Given the description of an element on the screen output the (x, y) to click on. 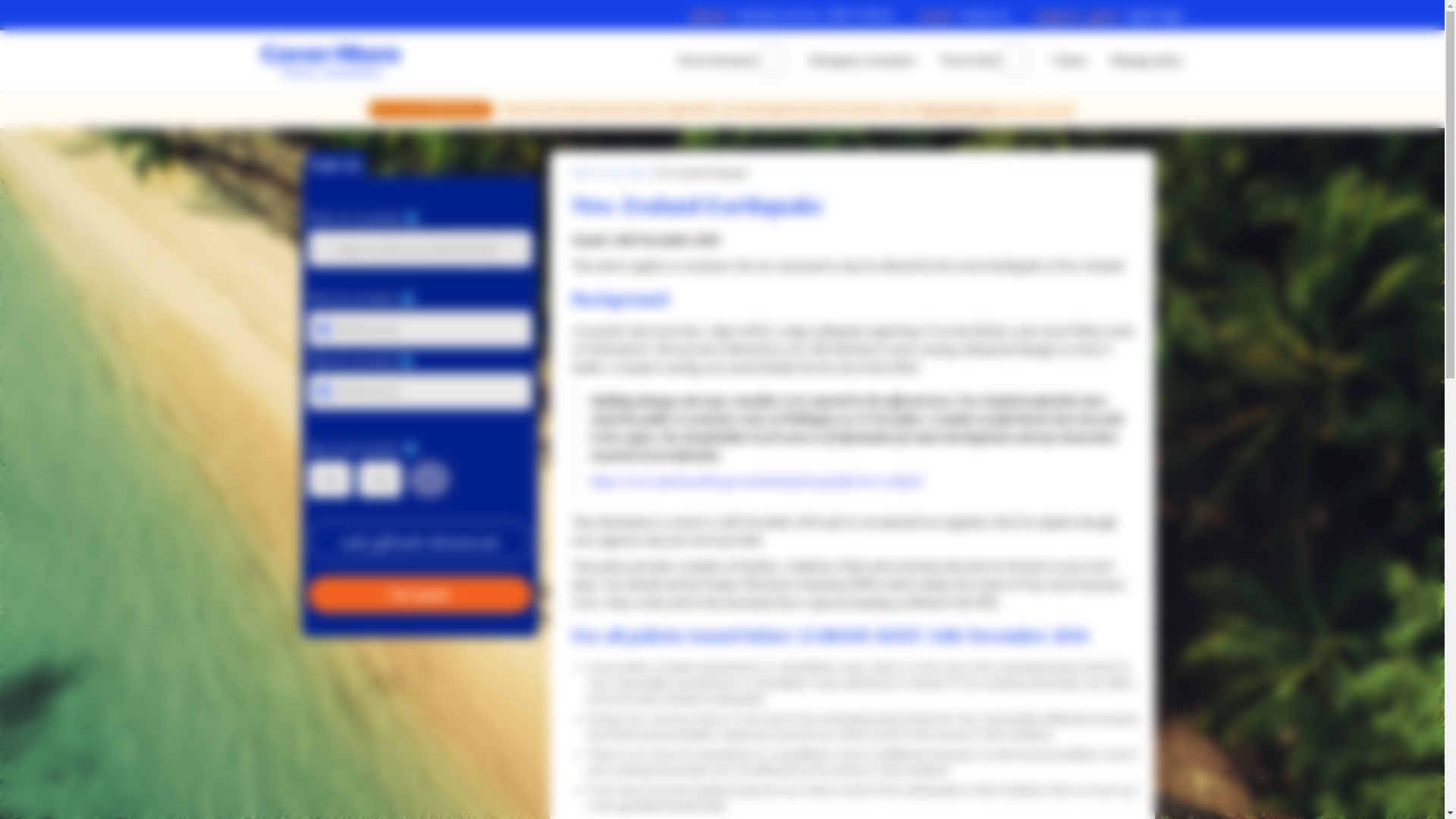
Emergency assistance (862, 60)
Read the big print (957, 109)
add (791, 14)
Travel alerts (429, 479)
Inbound (970, 60)
Manage policy (494, 163)
Single trip (1146, 60)
Home (335, 163)
Travel insurance (583, 172)
Annual multi-trip (717, 60)
Claims (418, 163)
Get quote (1069, 60)
